Given the description of an element on the screen output the (x, y) to click on. 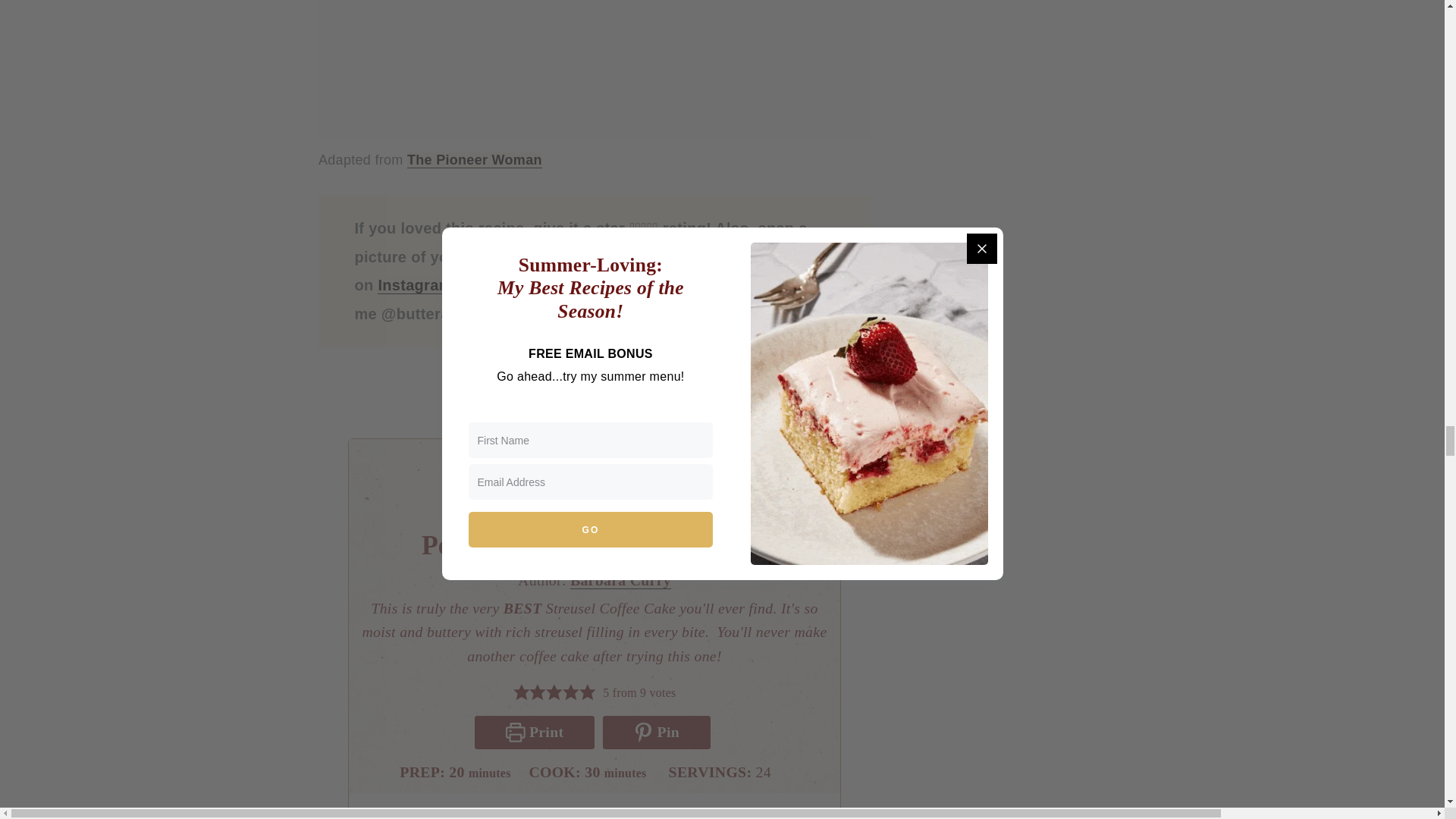
Coffee Cake (474, 160)
